Given the description of an element on the screen output the (x, y) to click on. 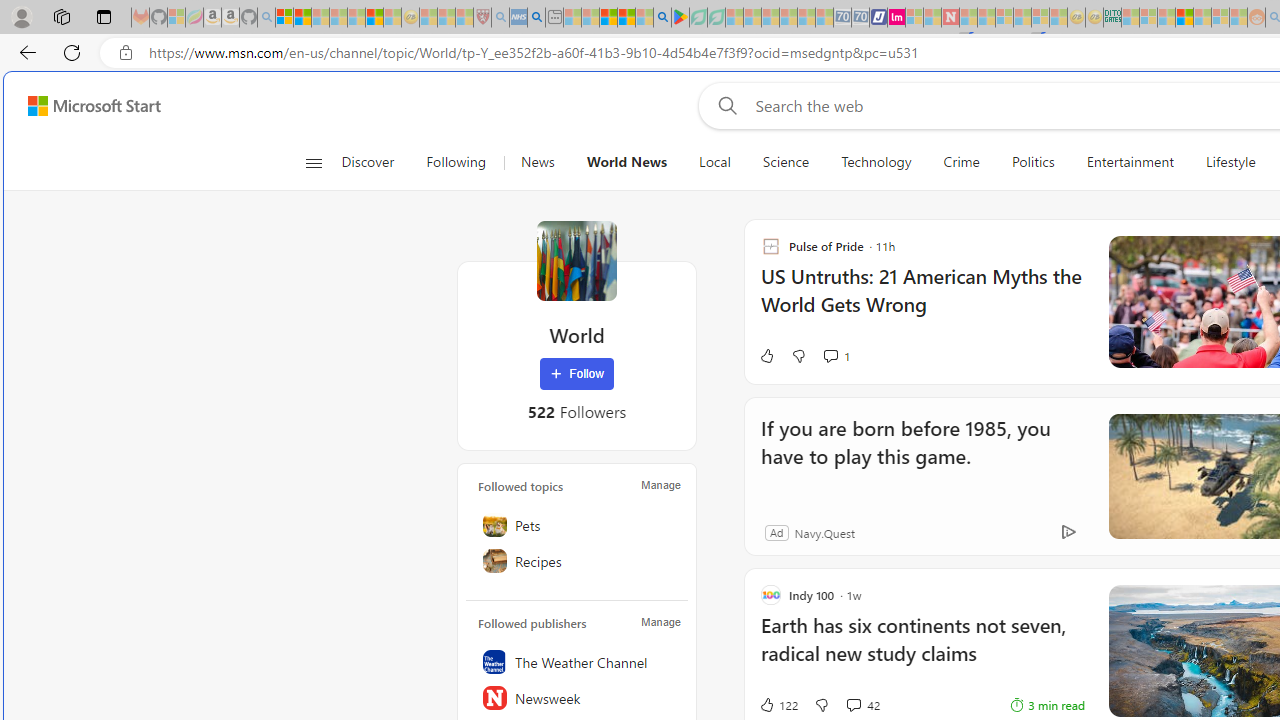
Bluey: Let's Play! - Apps on Google Play (680, 17)
Recipes (577, 561)
